Given the description of an element on the screen output the (x, y) to click on. 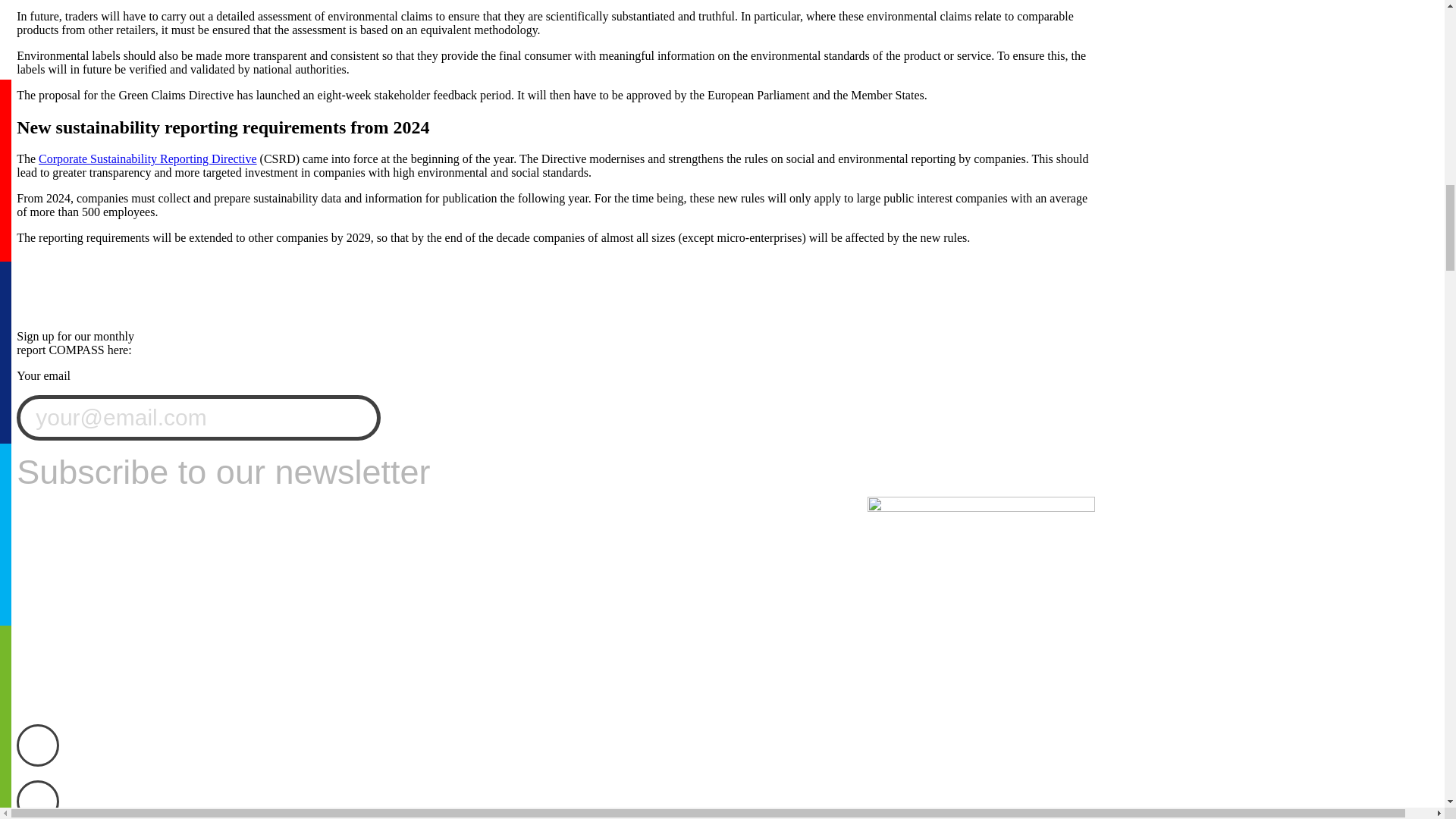
X (37, 799)
Facebook (37, 744)
Corporate Sustainability Reporting Directive (148, 159)
